Given the description of an element on the screen output the (x, y) to click on. 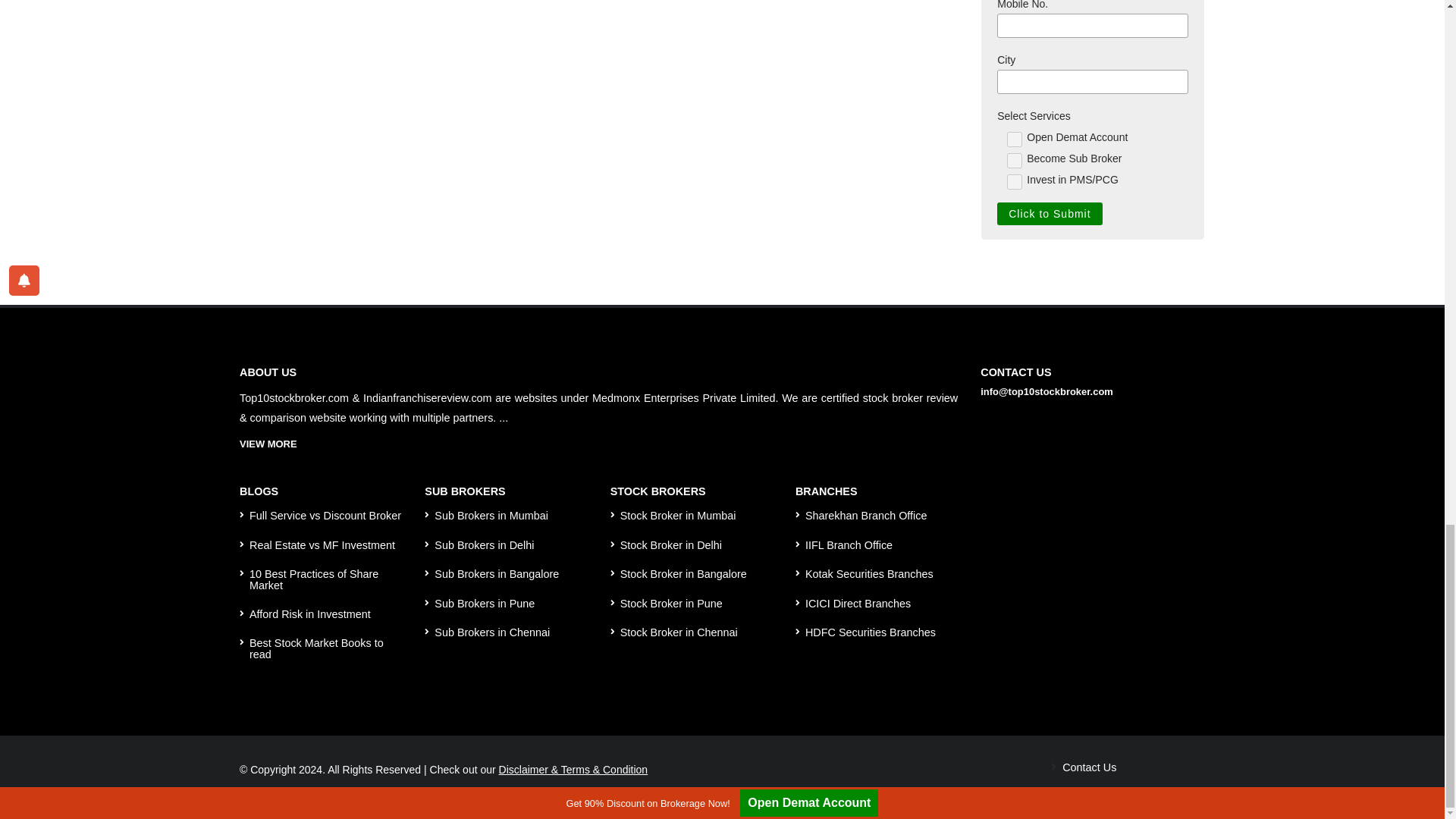
Click to Submit (1049, 213)
Become Sub Broker (1014, 160)
Open Demat Account (1014, 139)
